Given the description of an element on the screen output the (x, y) to click on. 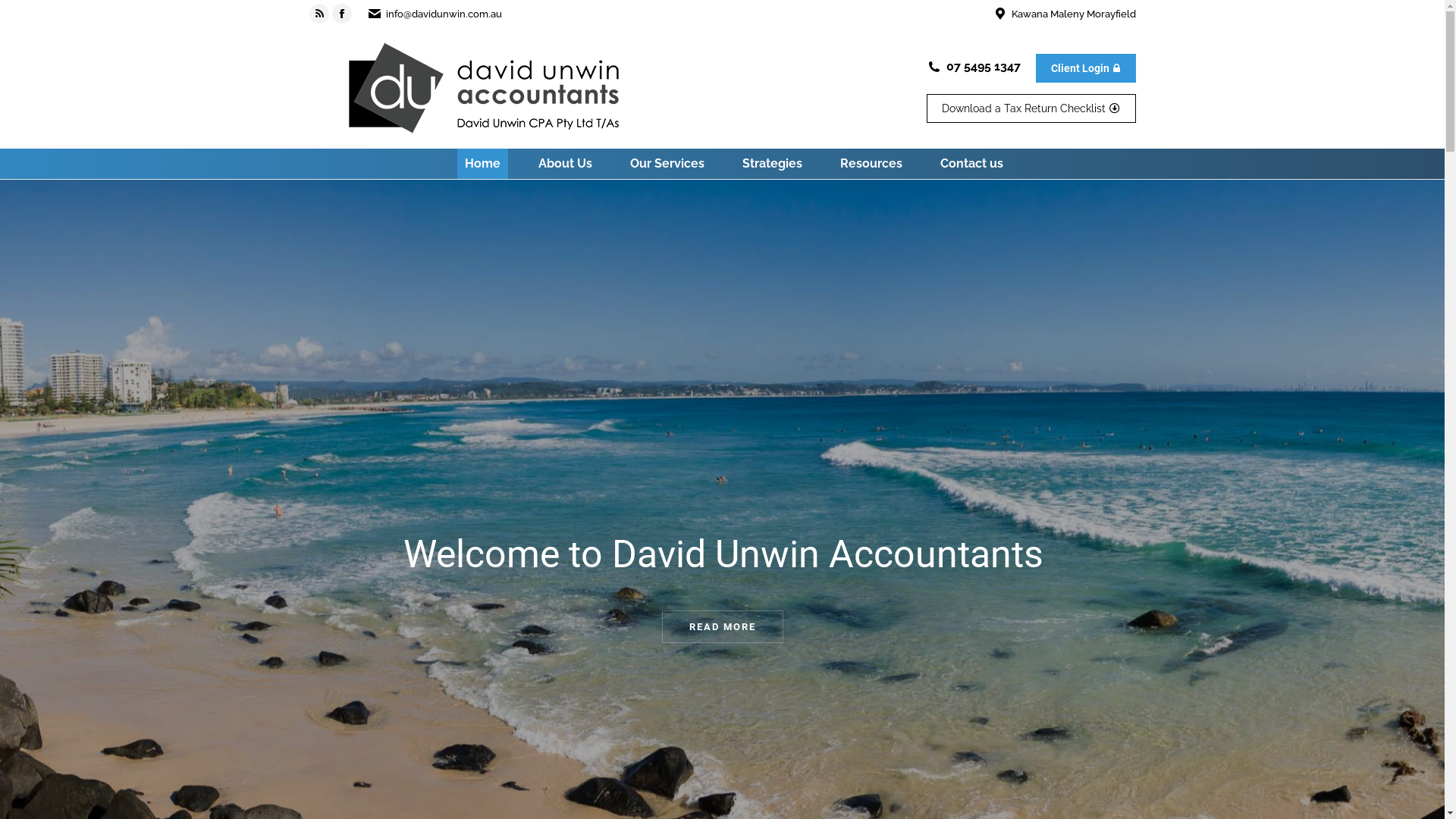
Resources Element type: text (871, 163)
Home Element type: text (481, 163)
Download a Tax Return Checklist Element type: text (1030, 108)
About Us Element type: text (564, 163)
Client Login Element type: text (1085, 67)
Contact us Element type: text (971, 163)
Our Services Element type: text (666, 163)
Facebook page opens in new window Element type: text (341, 13)
Strategies Element type: text (771, 163)
Rss page opens in new window Element type: text (319, 13)
info@davidunwin.com.au Element type: text (443, 13)
07 5495 1347 Element type: text (983, 65)
